Given the description of an element on the screen output the (x, y) to click on. 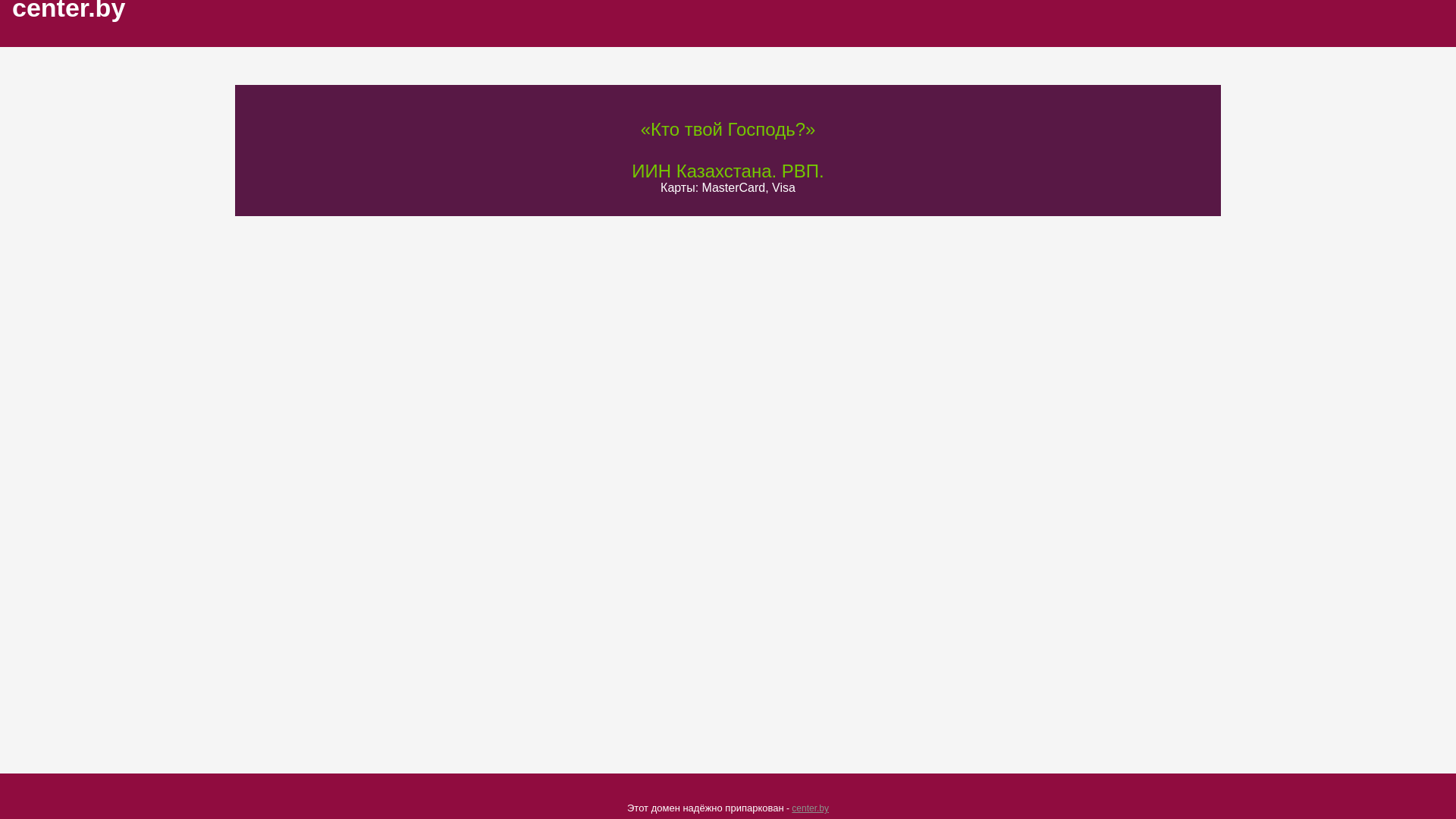
center.by Element type: text (809, 808)
